Given the description of an element on the screen output the (x, y) to click on. 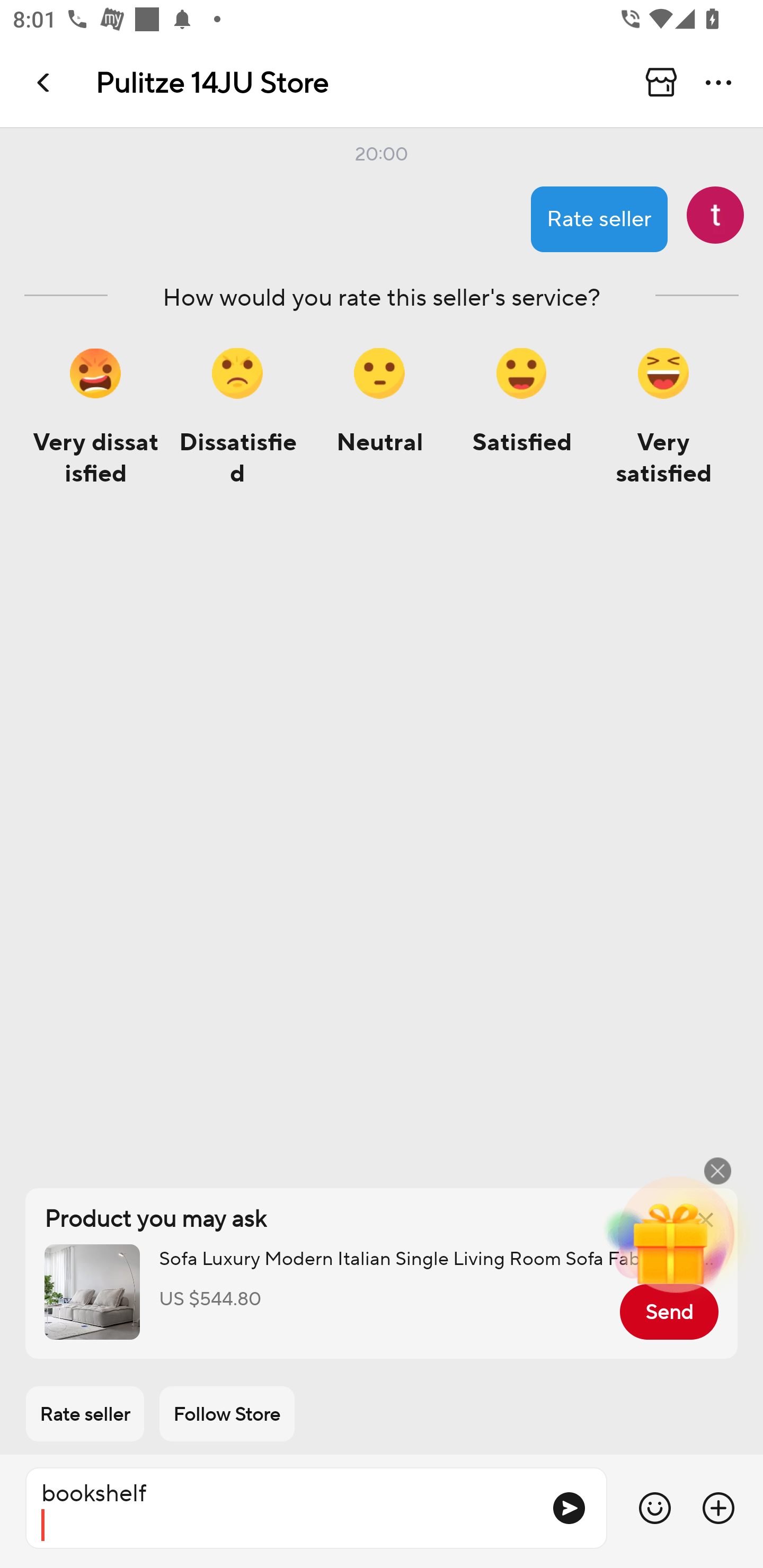
Navigate up (44, 82)
Rate seller (599, 219)
头像 (714, 214)
Send (668, 1311)
Rate seller (84, 1414)
Follow Store (226, 1414)
bookshelf
 (281, 1508)
